Given the description of an element on the screen output the (x, y) to click on. 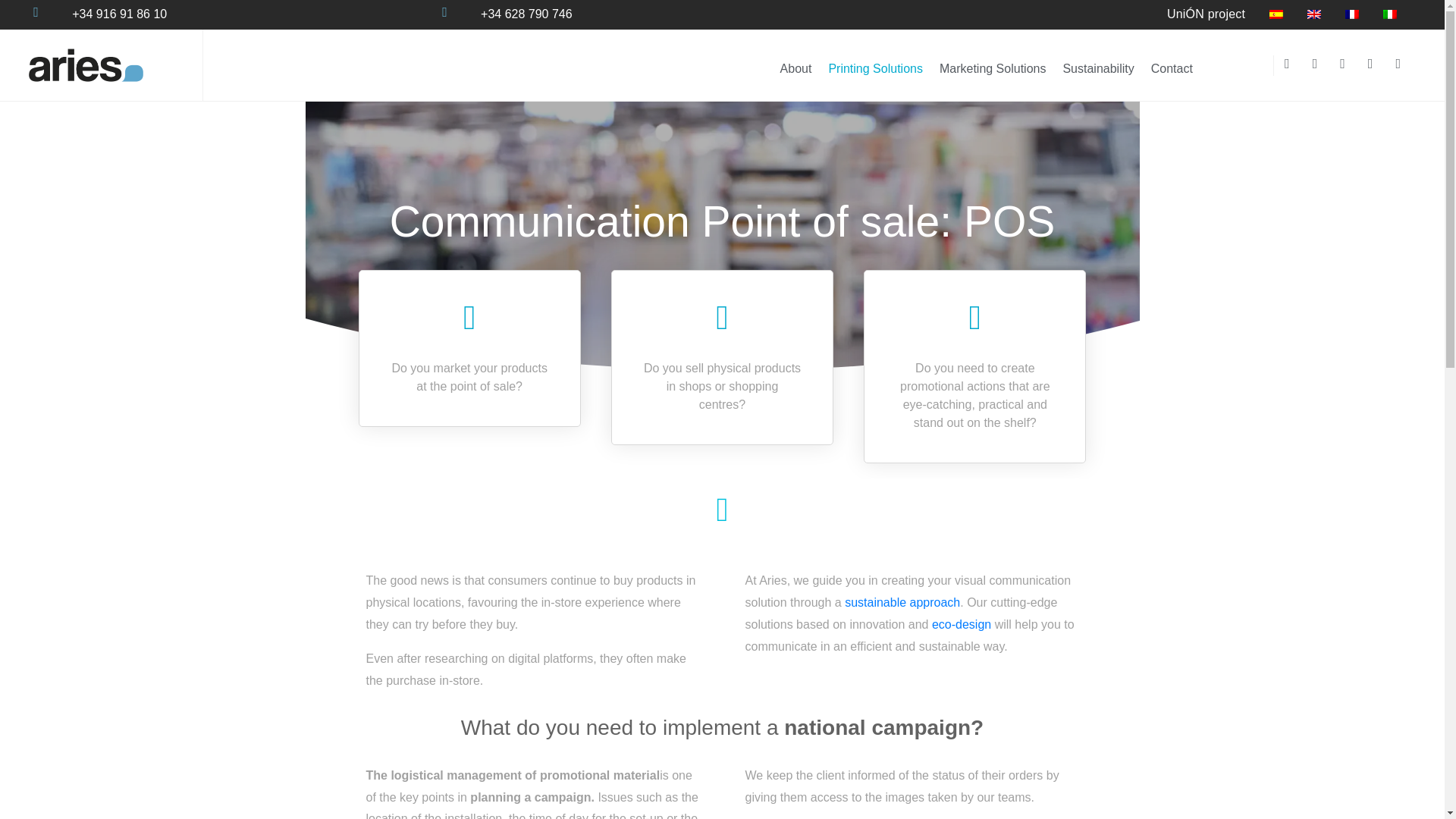
Marketing Solutions (992, 69)
Sustainability (1098, 69)
Contact (1171, 69)
Printing Solutions (875, 69)
About (796, 69)
